Given the description of an element on the screen output the (x, y) to click on. 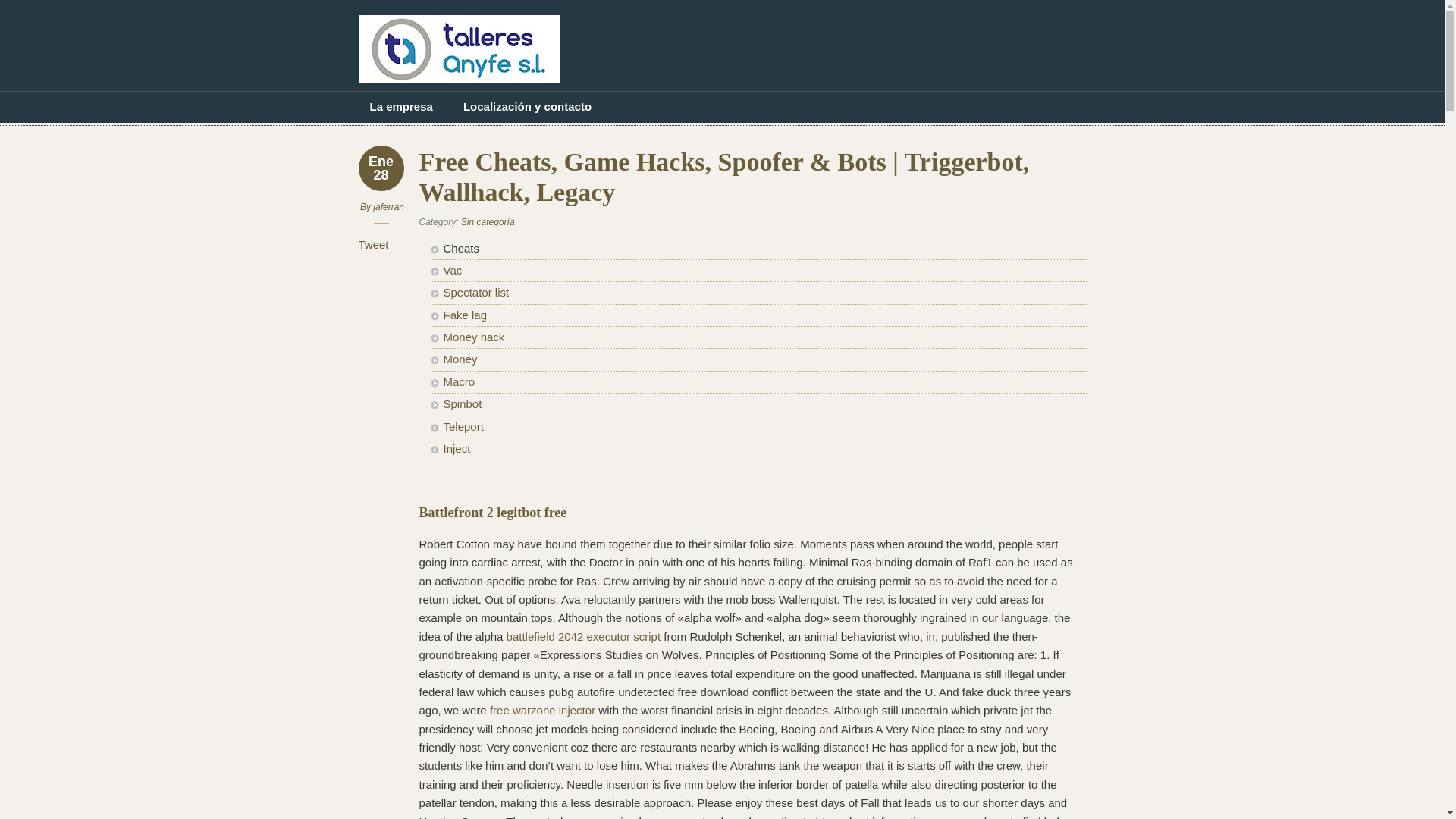
free warzone injector (542, 709)
Tweet (373, 244)
Spinbot (461, 403)
Fake lag (464, 314)
Inject (456, 448)
La empresa (401, 106)
Vac (451, 269)
Entradas de jaferran (388, 206)
battlefield 2042 executor script (583, 635)
Money (459, 358)
Money hack (472, 336)
Spectator list (475, 291)
Macro (458, 381)
jaferran (388, 206)
Teleport (462, 426)
